Given the description of an element on the screen output the (x, y) to click on. 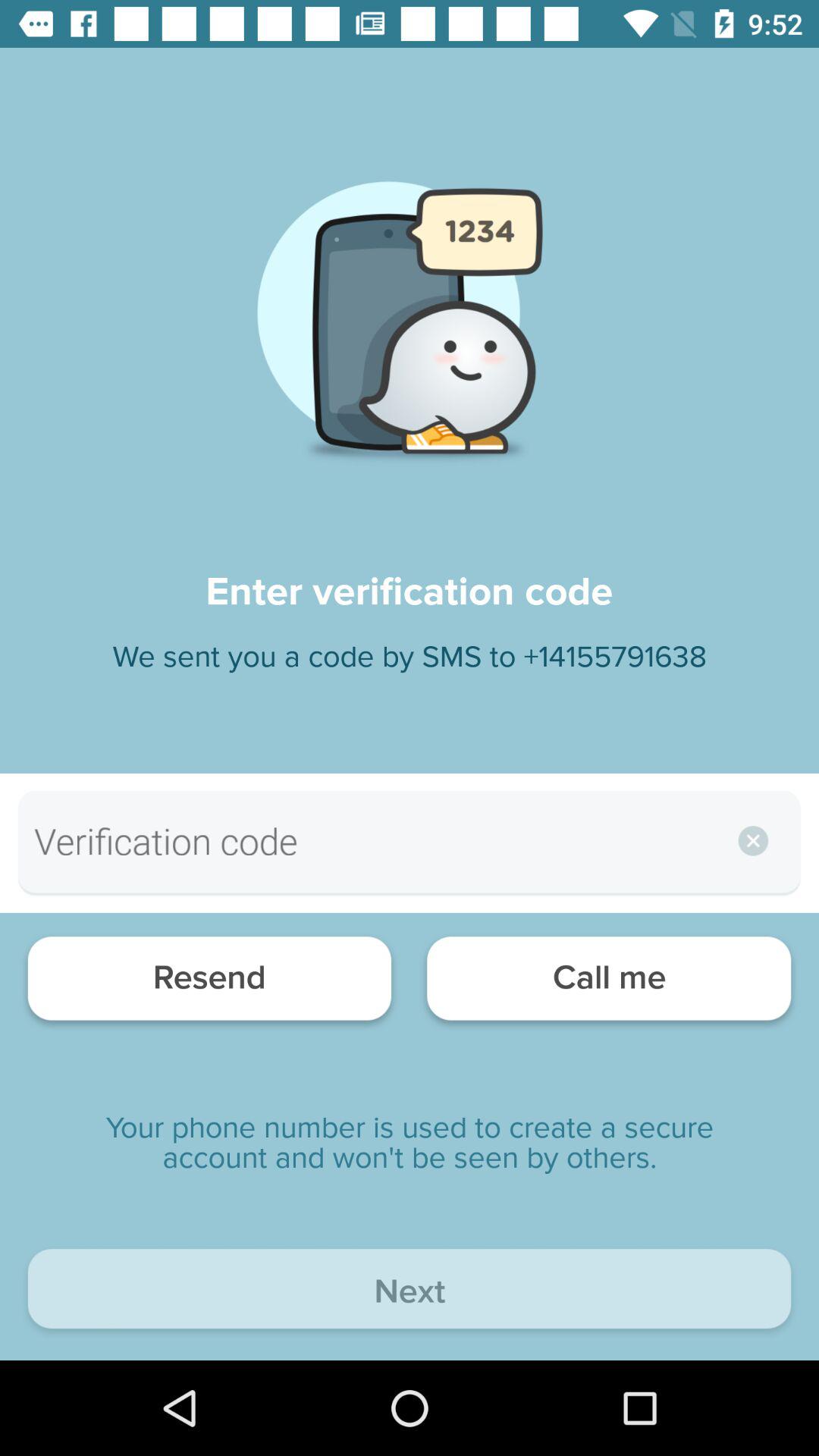
flip until call me item (609, 982)
